Given the description of an element on the screen output the (x, y) to click on. 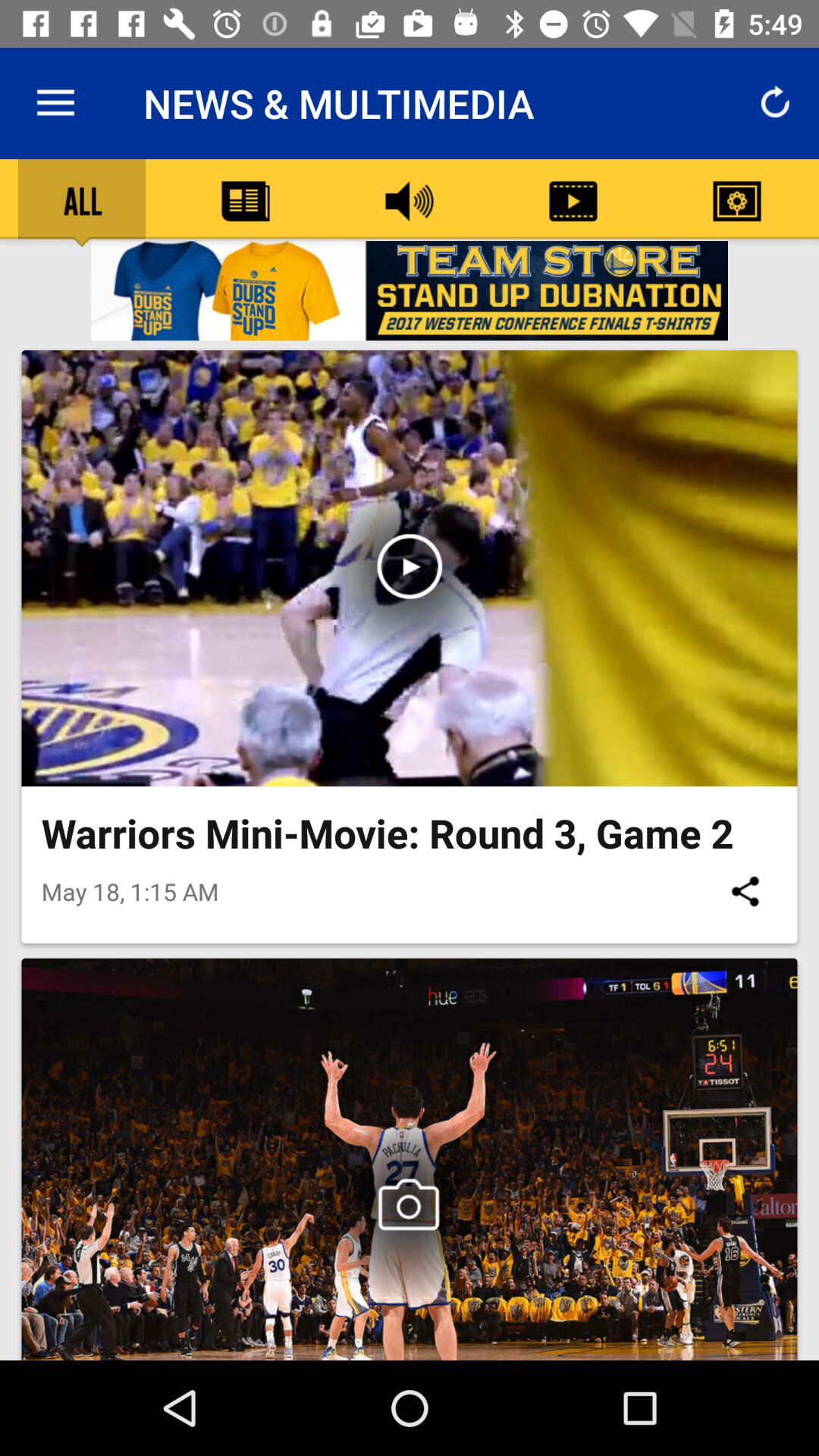
choose the item to the left of the news & multimedia item (55, 103)
